Given the description of an element on the screen output the (x, y) to click on. 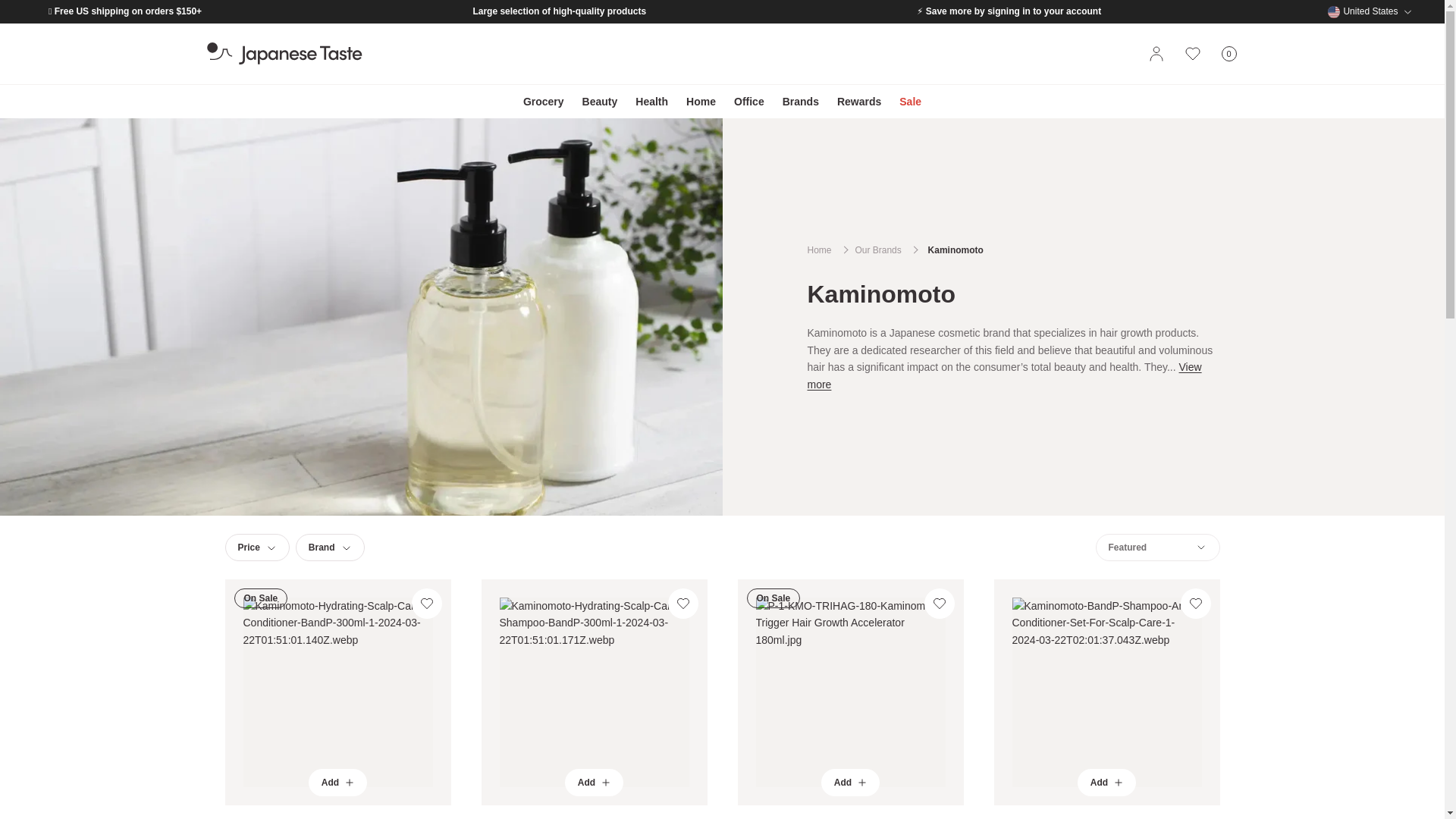
United States (1369, 11)
Grocery (543, 101)
Japanese Taste (1228, 54)
